Given the description of an element on the screen output the (x, y) to click on. 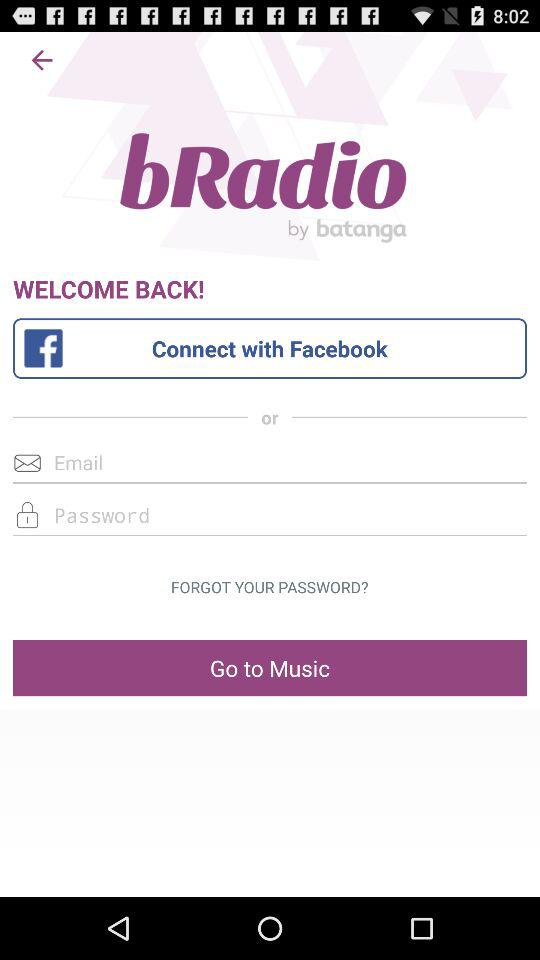
choose the item below the welcome back! (269, 348)
